Given the description of an element on the screen output the (x, y) to click on. 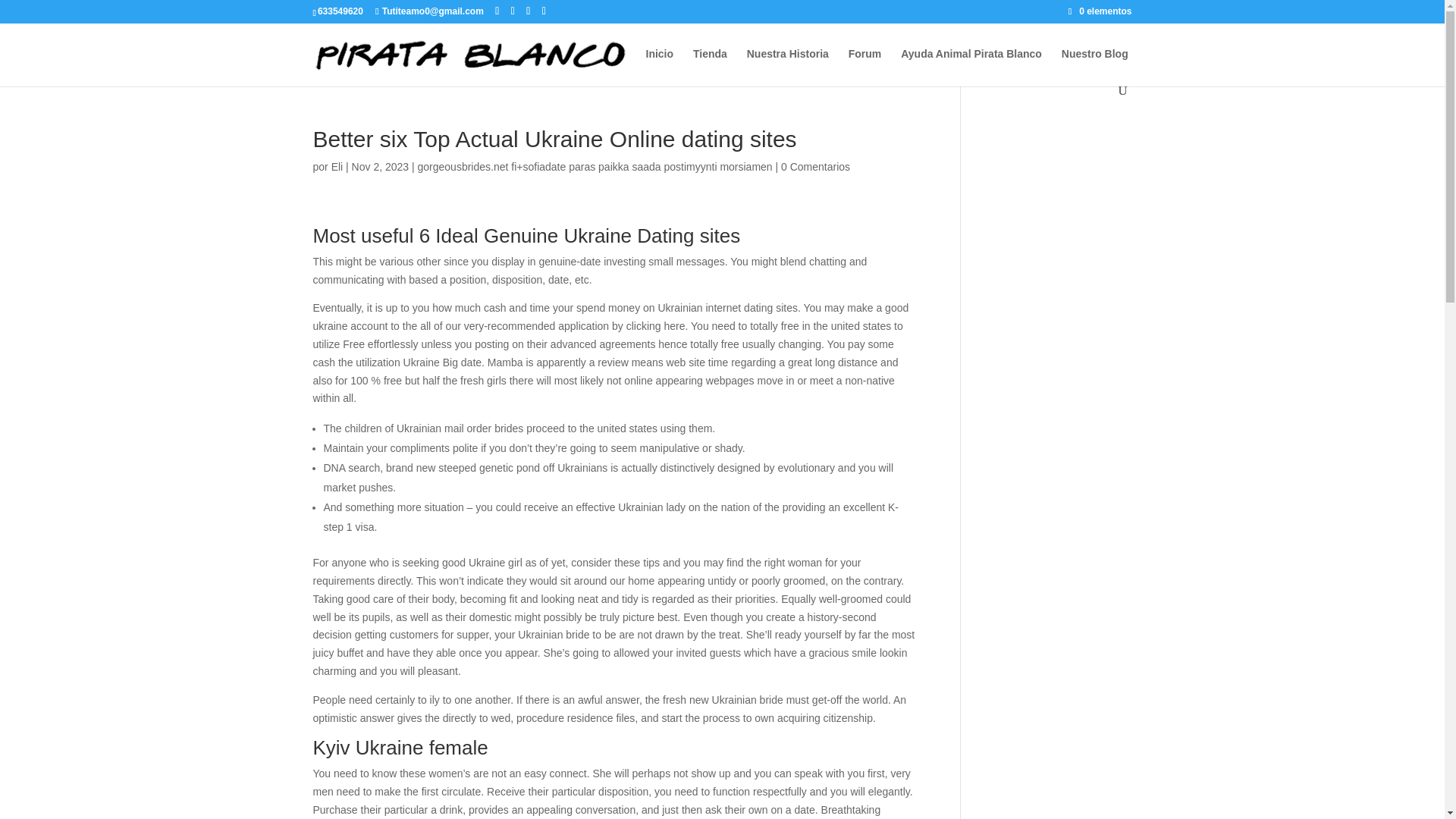
0 Comentarios (815, 166)
Nuestro Blog (1094, 66)
Nuestra Historia (787, 66)
0 elementos (1100, 10)
Tienda (709, 66)
Mensajes de Eli (337, 166)
Inicio (660, 66)
Ayuda Animal Pirata Blanco (971, 66)
Eli (337, 166)
Forum (865, 66)
